Given the description of an element on the screen output the (x, y) to click on. 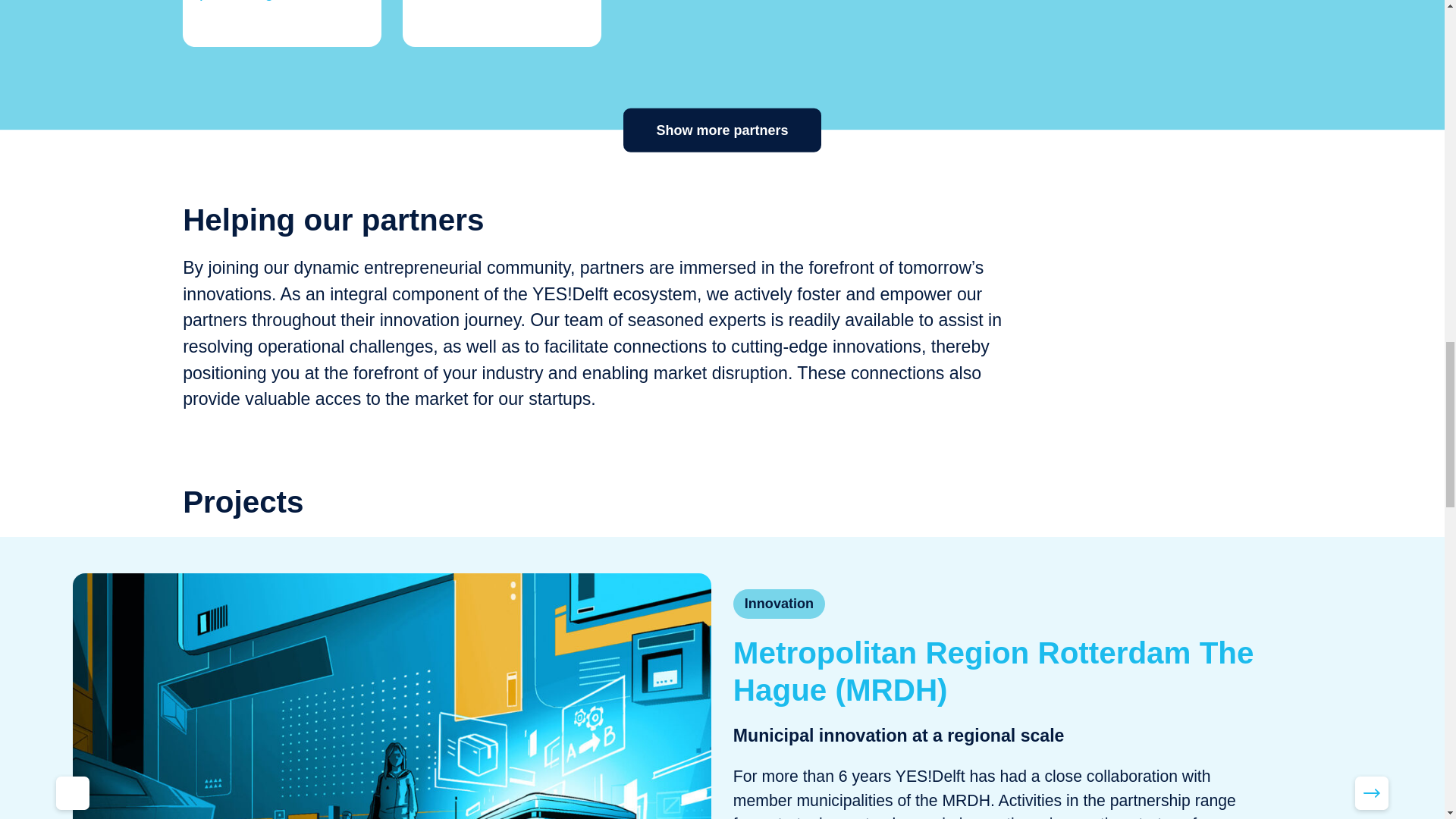
TU Delft (502, 23)
Show more partners (722, 130)
